Given the description of an element on the screen output the (x, y) to click on. 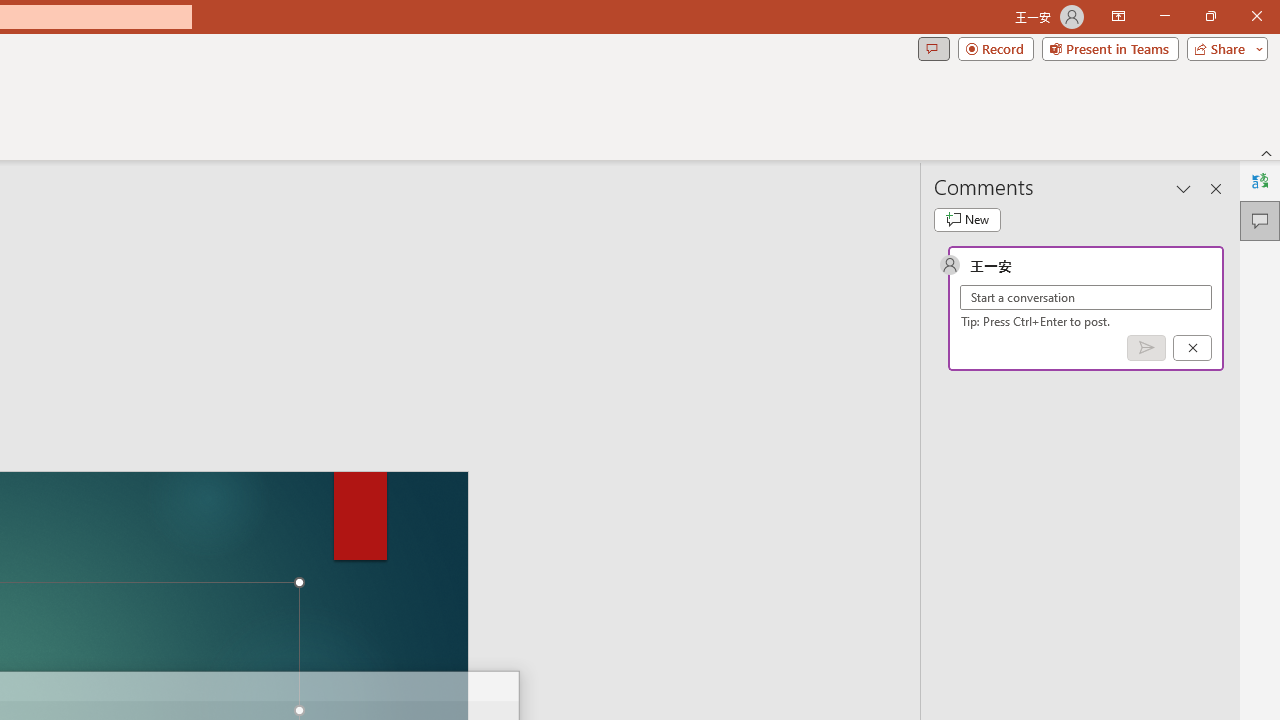
Cancel (1192, 347)
New comment (967, 219)
Post comment (Ctrl + Enter) (1146, 347)
